Given the description of an element on the screen output the (x, y) to click on. 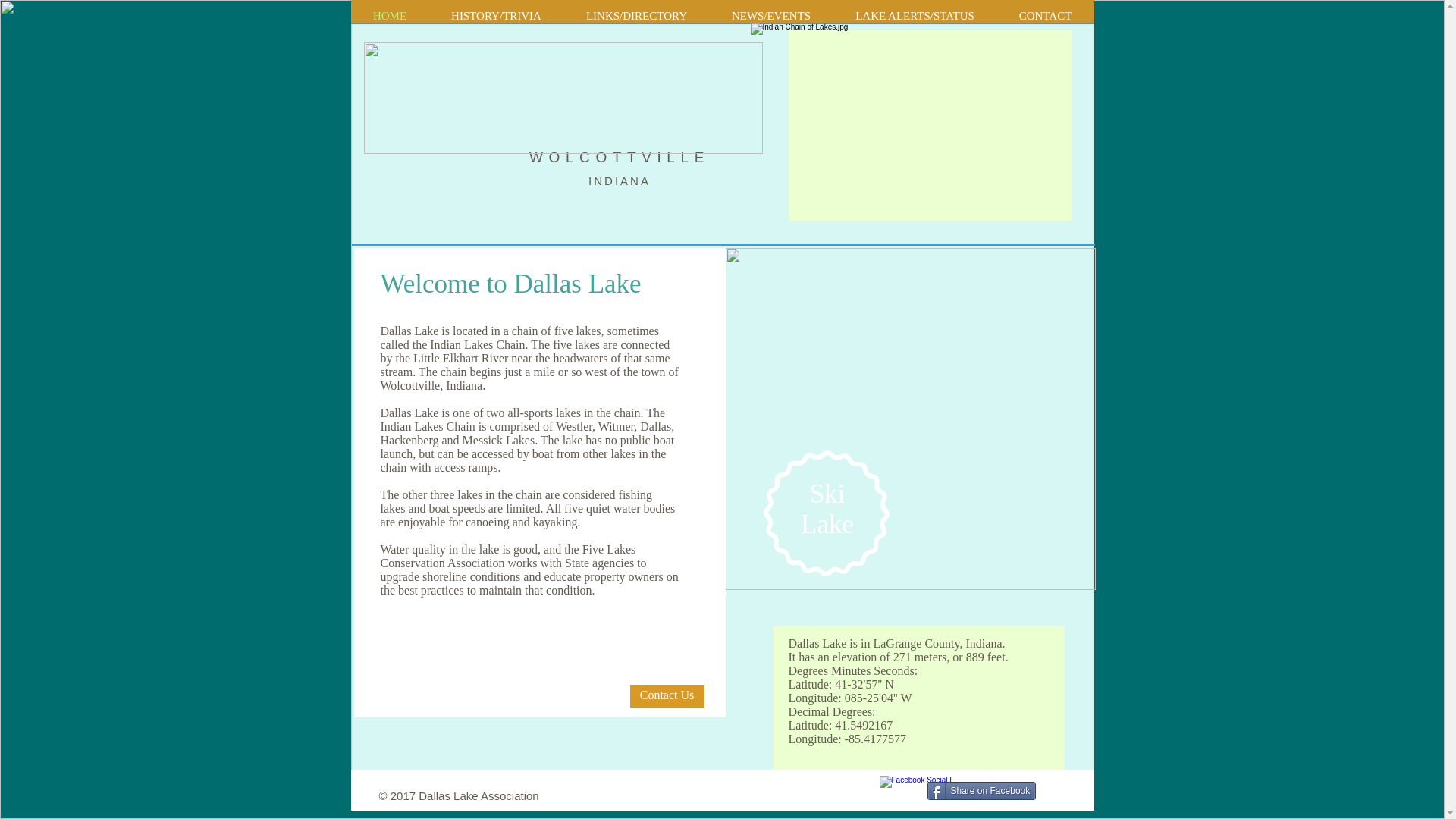
HOME (389, 10)
Share on Facebook (980, 791)
Contact Us (665, 695)
Share on Facebook (980, 791)
CONTACT (1044, 10)
